Given the description of an element on the screen output the (x, y) to click on. 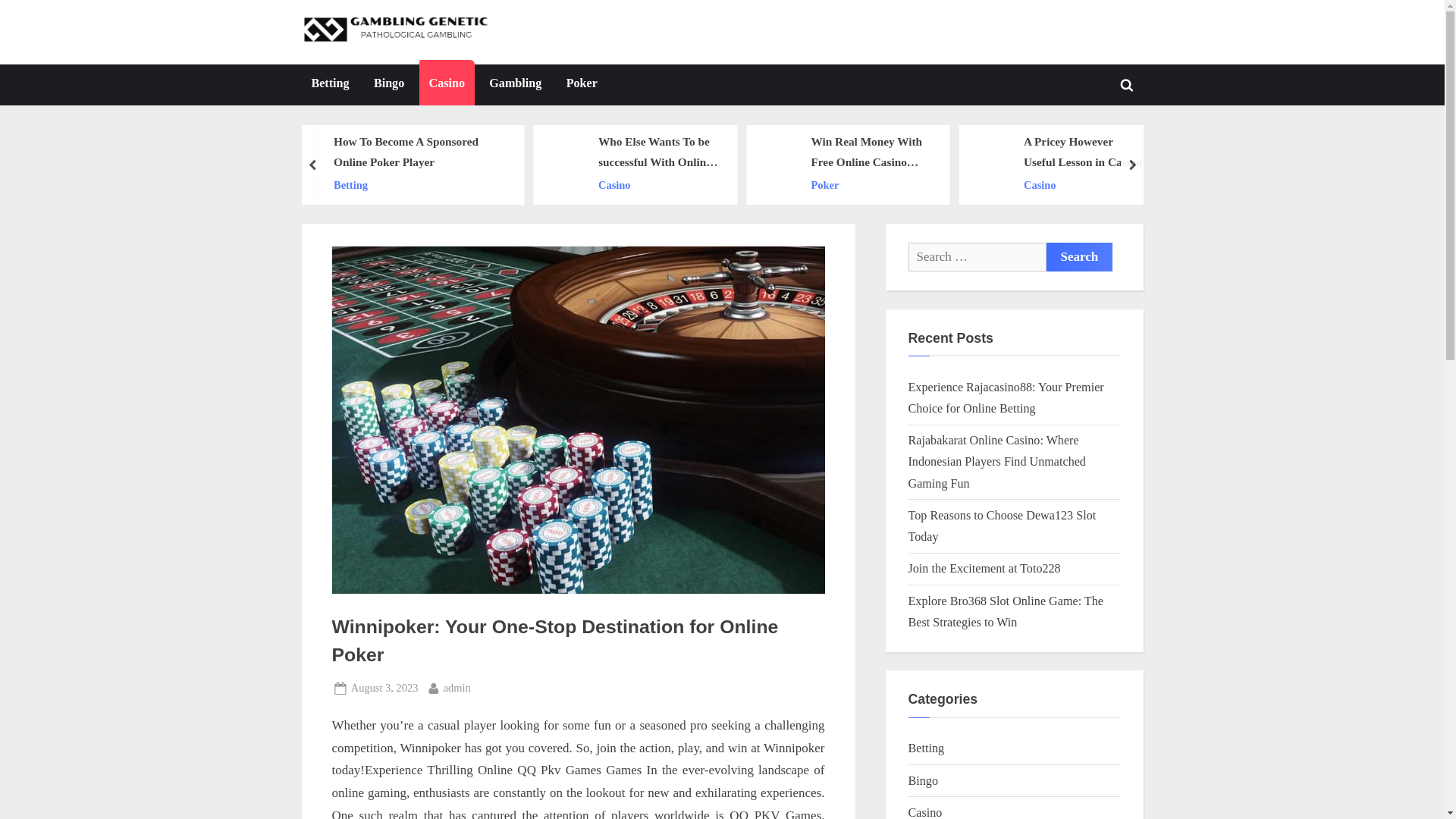
Who Else Wants To be successful With Online Casino Games (658, 151)
Betting (330, 84)
Casino (658, 185)
A Pricey However Useful Lesson in Casino (1085, 151)
Search (1079, 256)
Bingo (388, 84)
Gambling (515, 84)
Toggle search form (1126, 84)
Casino (446, 84)
Poker (581, 84)
How To Become A Sponsored Online Poker Player (417, 151)
Casino (1085, 185)
Search (1079, 256)
Betting (417, 185)
Gambling Genetic (572, 44)
